Given the description of an element on the screen output the (x, y) to click on. 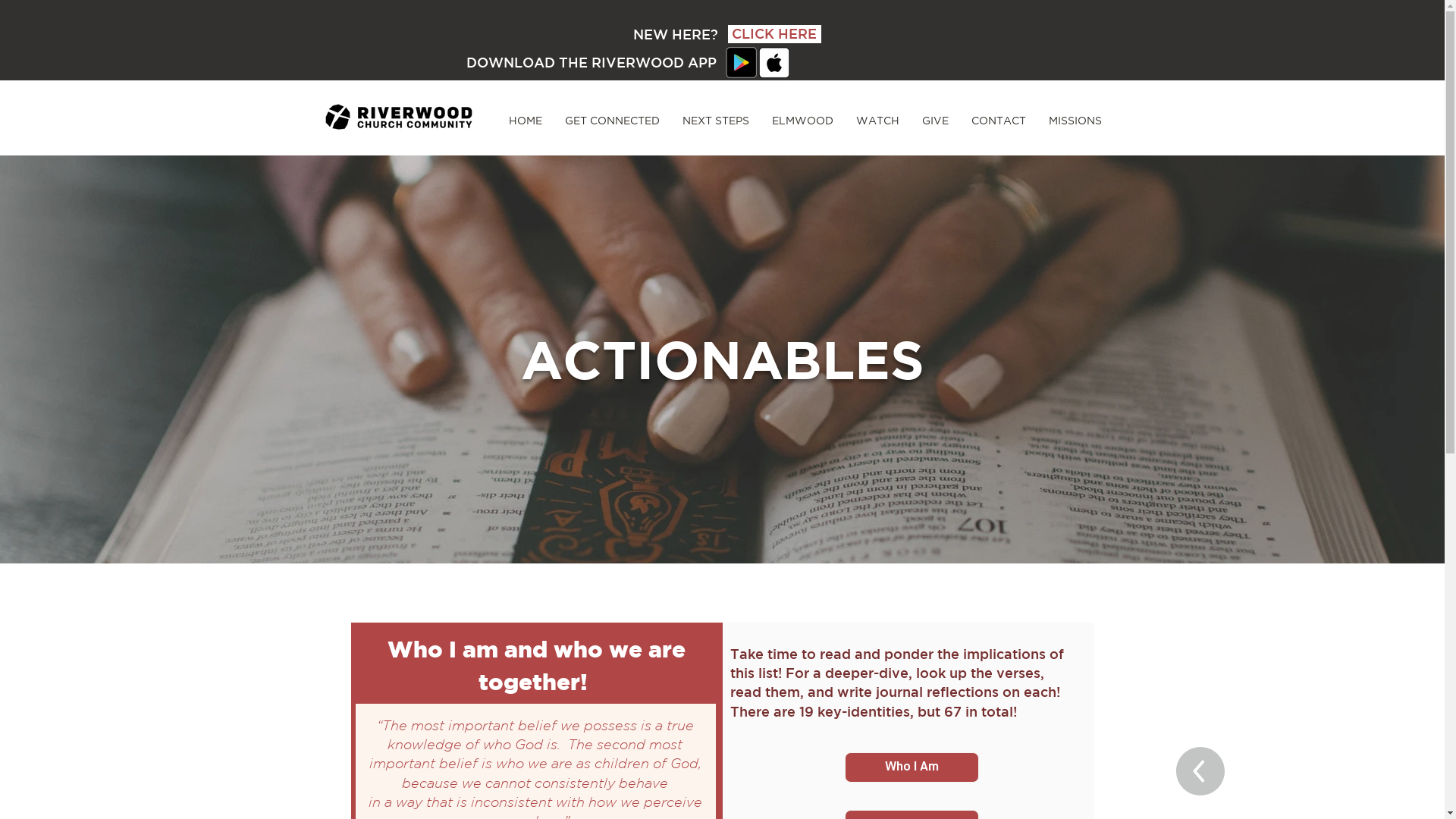
ELMWOOD Element type: text (801, 120)
CONTACT Element type: text (998, 120)
WATCH Element type: text (877, 120)
HOME Element type: text (525, 120)
NEXT STEPS Element type: text (714, 120)
GIVE Element type: text (934, 120)
Who I Am Element type: text (911, 767)
RW_logo.jpg Element type: hover (398, 116)
CLICK HERE Element type: text (774, 34)
